Given the description of an element on the screen output the (x, y) to click on. 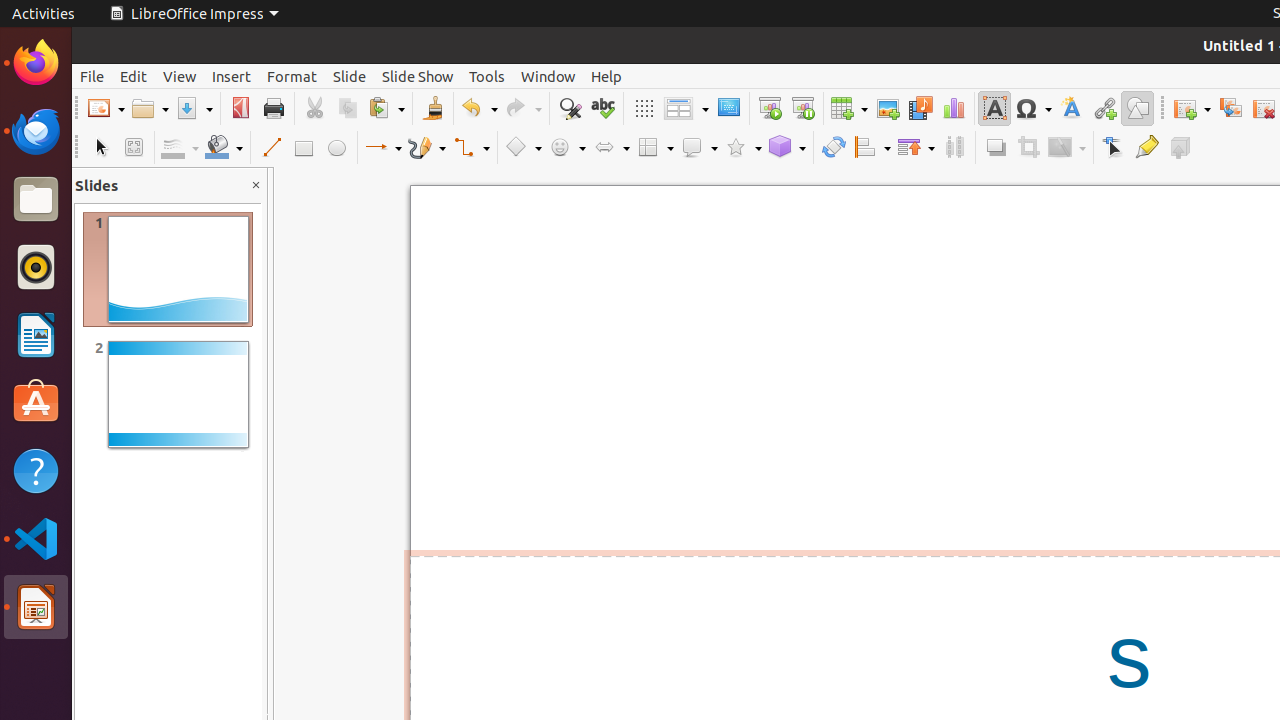
Lines and Arrows Element type: push-button (383, 147)
Copy Element type: push-button (347, 108)
Shadow Element type: toggle-button (995, 147)
Find & Replace Element type: toggle-button (569, 108)
Crop Element type: push-button (1028, 147)
